Given the description of an element on the screen output the (x, y) to click on. 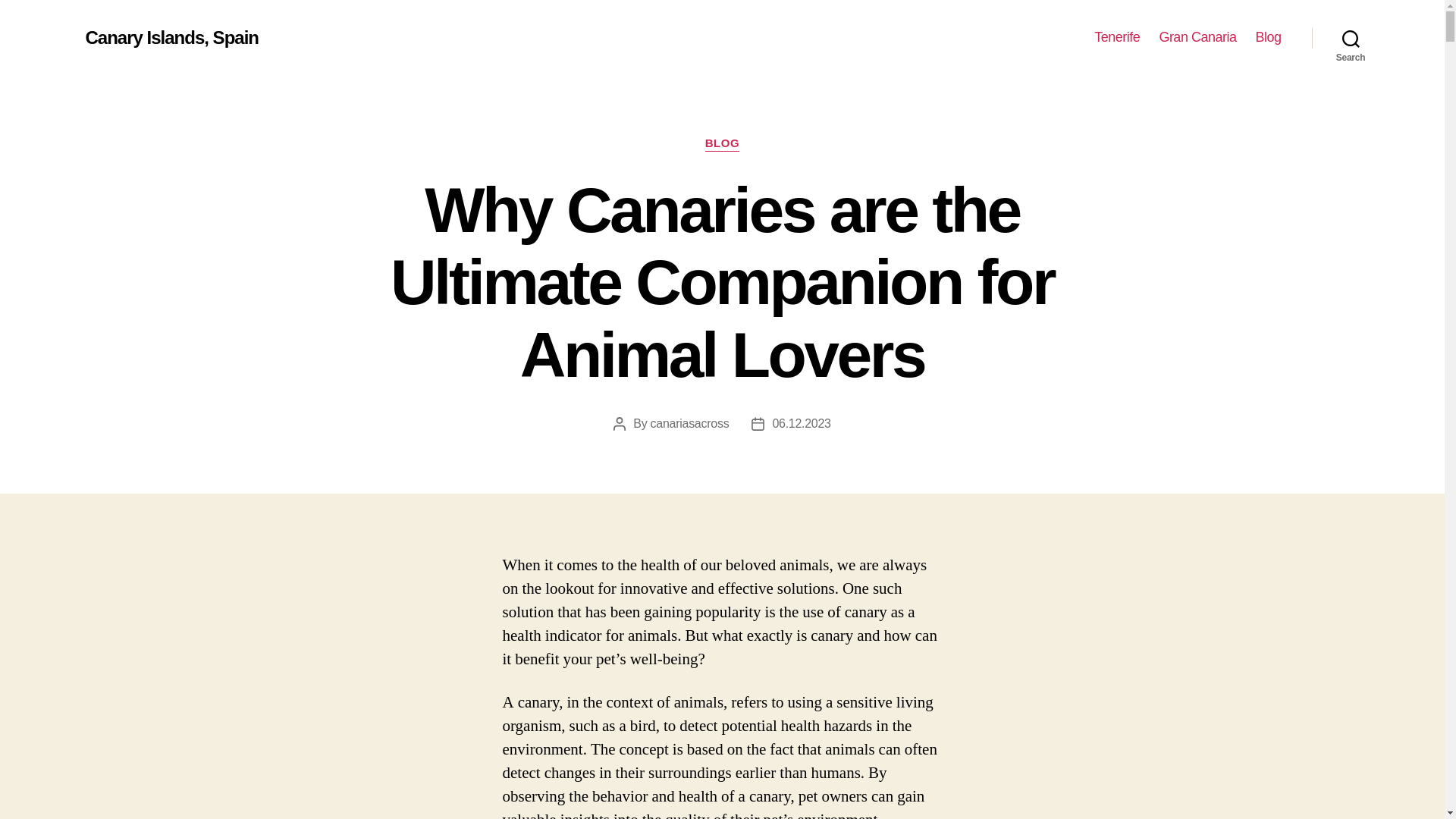
Gran Canaria (1197, 37)
BLOG (721, 143)
06.12.2023 (800, 422)
Search (1350, 37)
Canary Islands, Spain (170, 37)
Tenerife (1117, 37)
Blog (1268, 37)
canariasacross (689, 422)
